Given the description of an element on the screen output the (x, y) to click on. 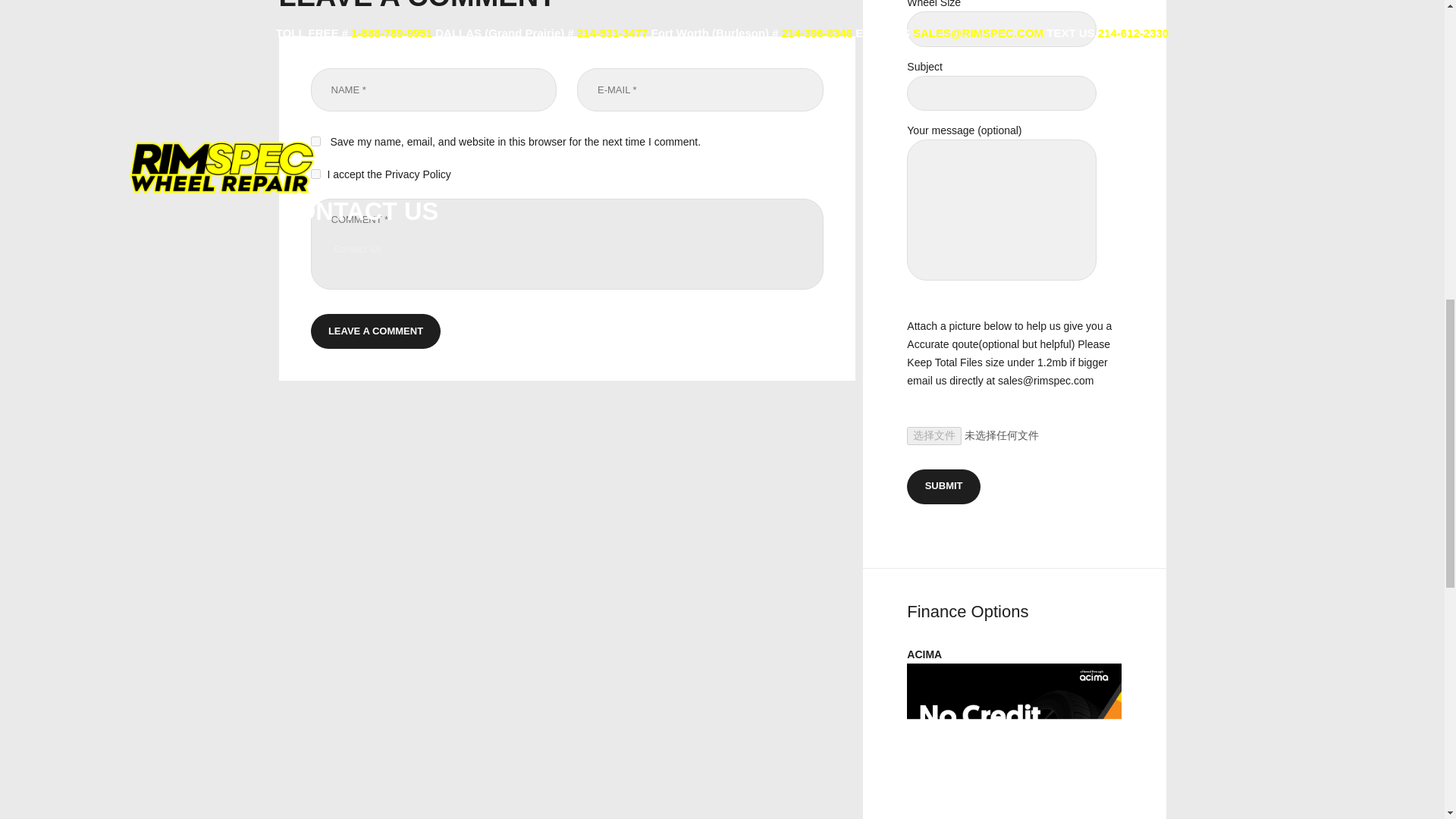
Leave a comment (376, 330)
Submit (943, 486)
yes (315, 141)
1 (315, 173)
